Given the description of an element on the screen output the (x, y) to click on. 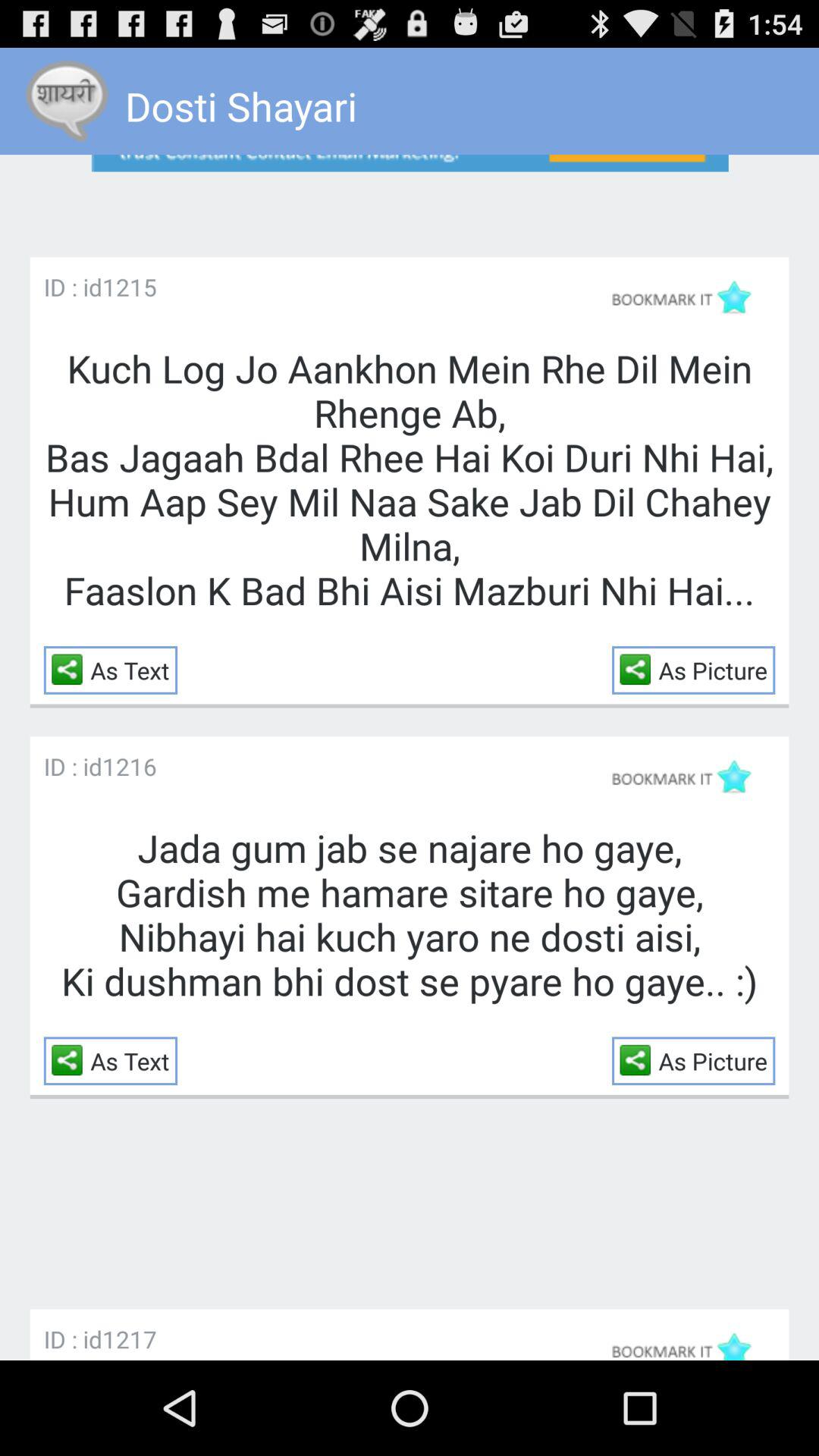
swipe to jada gum jab item (409, 914)
